Given the description of an element on the screen output the (x, y) to click on. 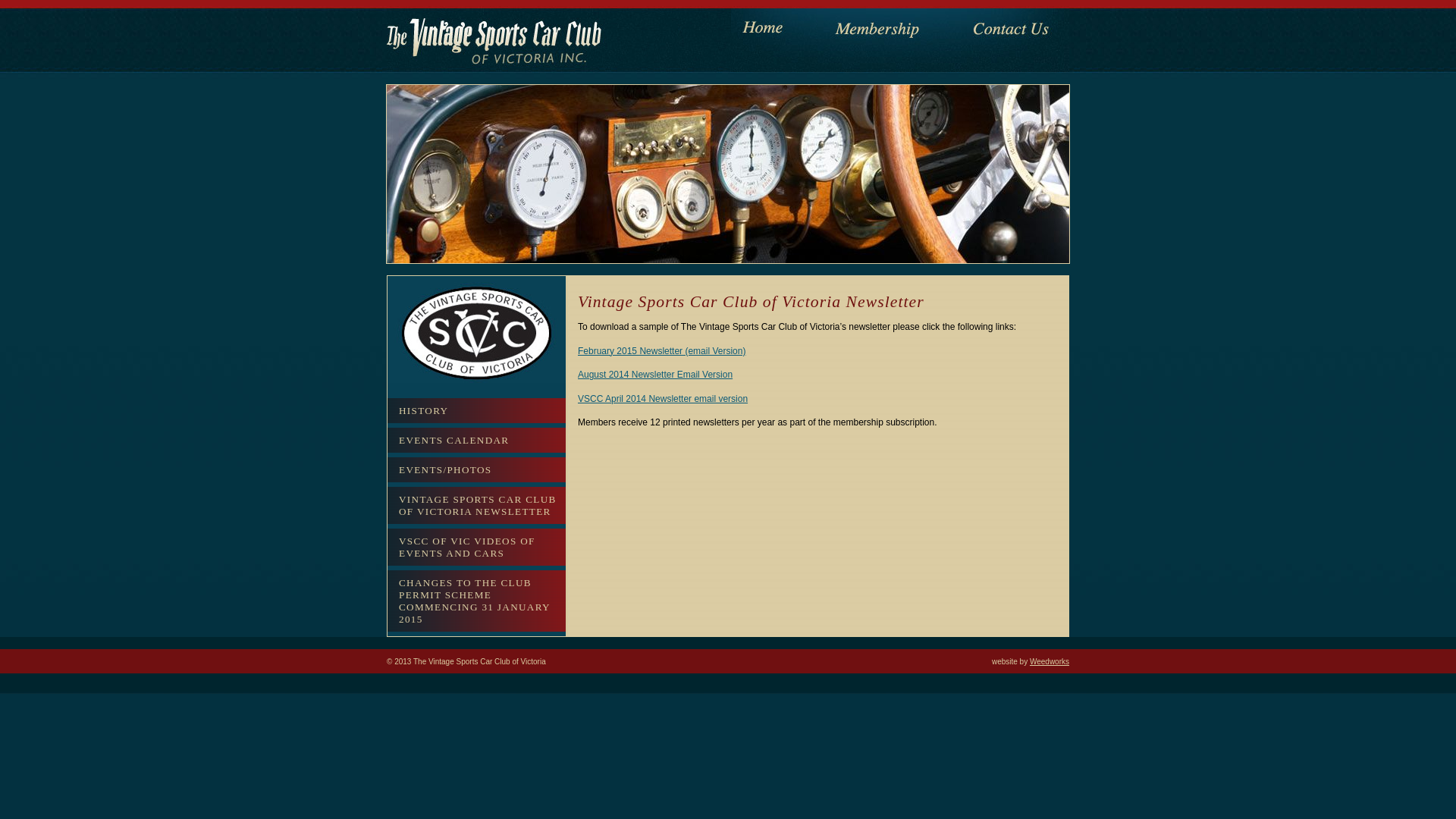
February 2015 Newsletter (email Version) Element type: text (661, 350)
VINTAGE SPORTS CAR CLUB OF VICTORIA NEWSLETTER Element type: text (476, 505)
HISTORY Element type: text (476, 410)
EVENTS CALENDAR Element type: text (476, 439)
EVENTS/PHOTOS Element type: text (476, 469)
VSCC April 2014 Newsletter email version Element type: text (662, 398)
Weedworks Element type: text (1049, 661)
August 2014 Newsletter Email Version Element type: text (654, 374)
CHANGES TO THE CLUB PERMIT SCHEME COMMENCING 31 JANUARY 2015 Element type: text (476, 600)
VSCC OF VIC VIDEOS OF EVENTS AND CARS Element type: text (476, 546)
